Given the description of an element on the screen output the (x, y) to click on. 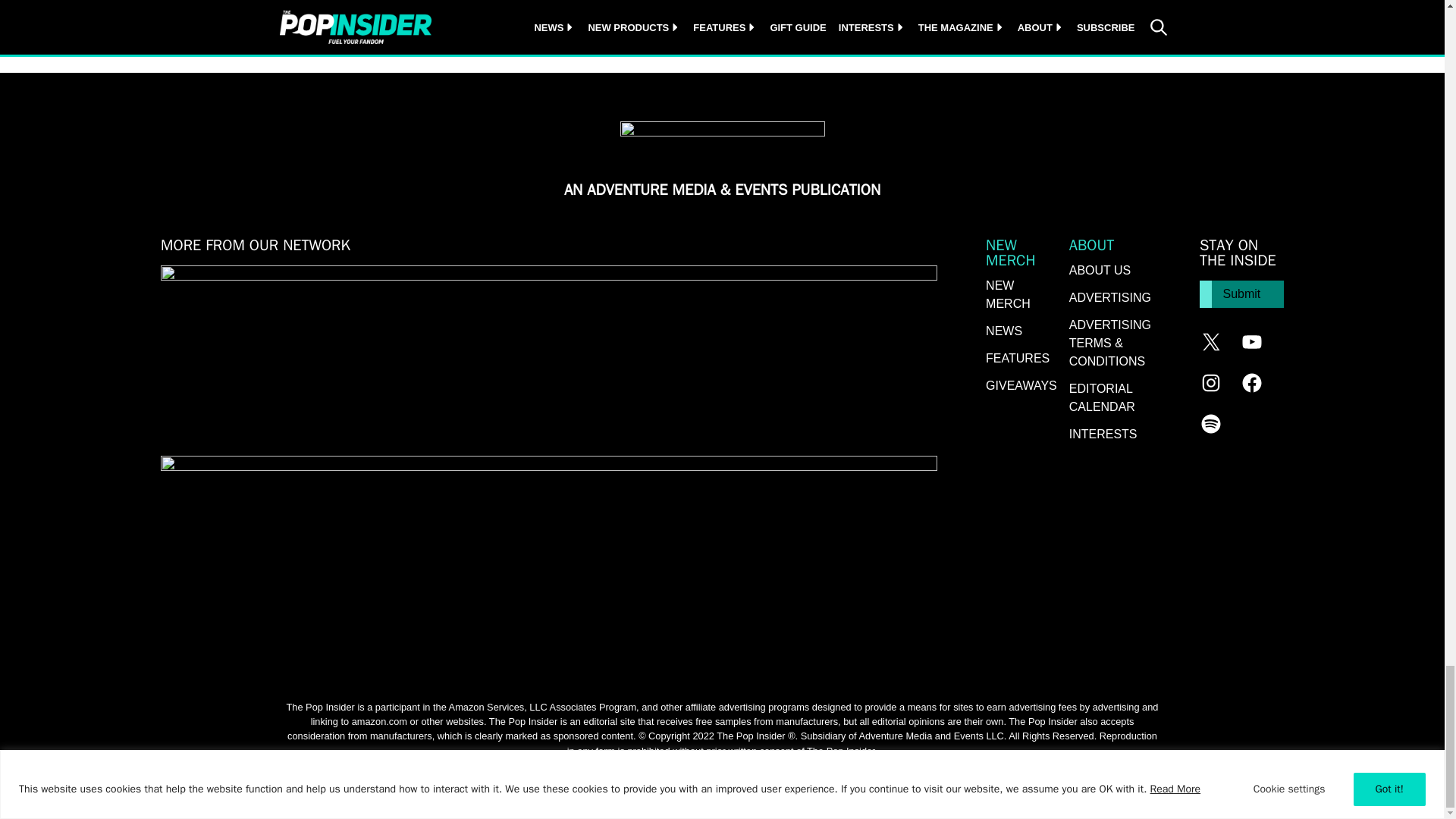
Submit (1241, 293)
